Given the description of an element on the screen output the (x, y) to click on. 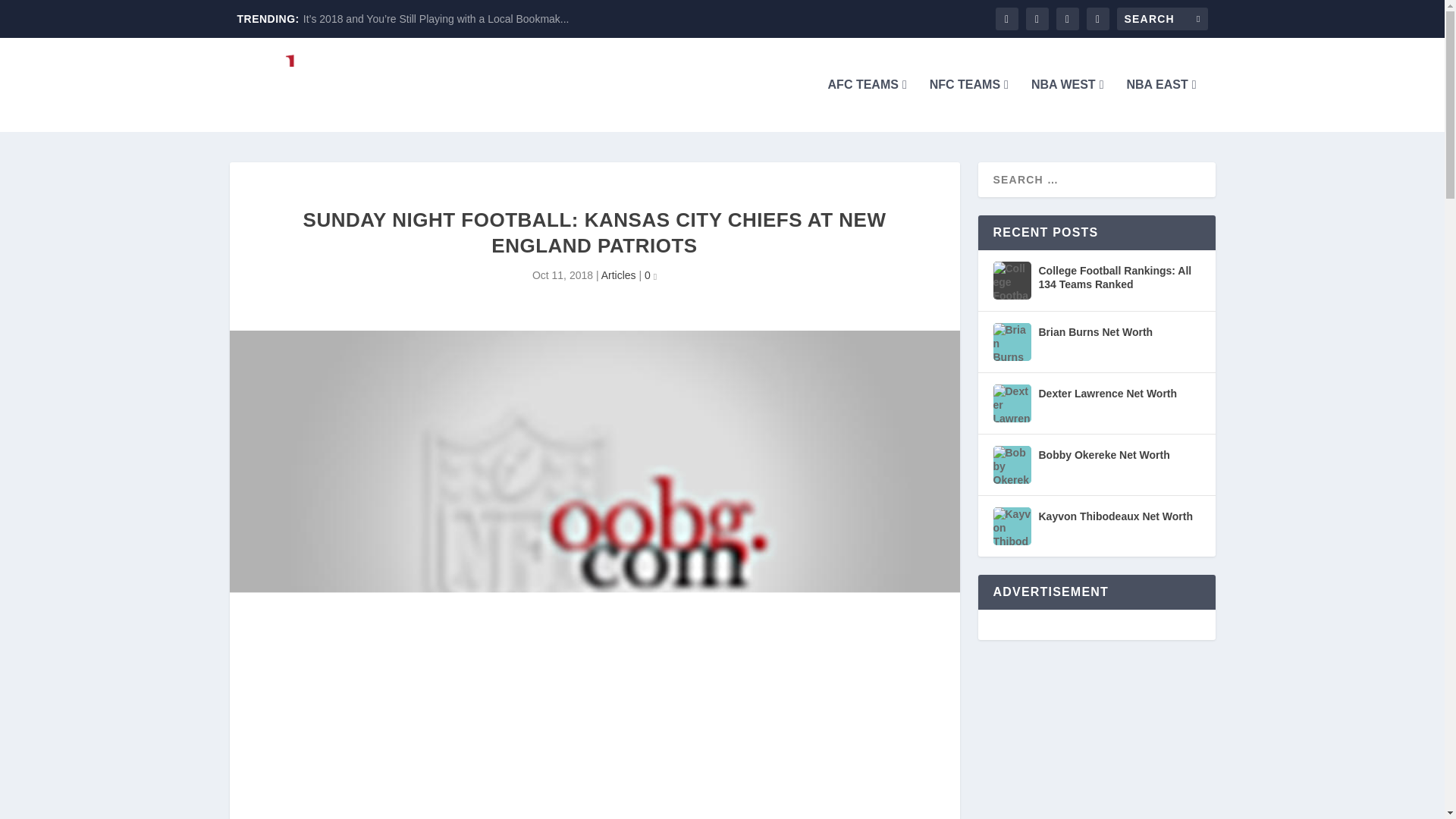
Brian Burns Net Worth (1011, 341)
AFC TEAMS (867, 104)
College Football Rankings: All 134 Teams Ranked (1011, 280)
Search for: (1161, 18)
Bobby Okereke Net Worth (1011, 464)
NFC TEAMS (969, 104)
Dexter Lawrence Net Worth (1011, 403)
